Given the description of an element on the screen output the (x, y) to click on. 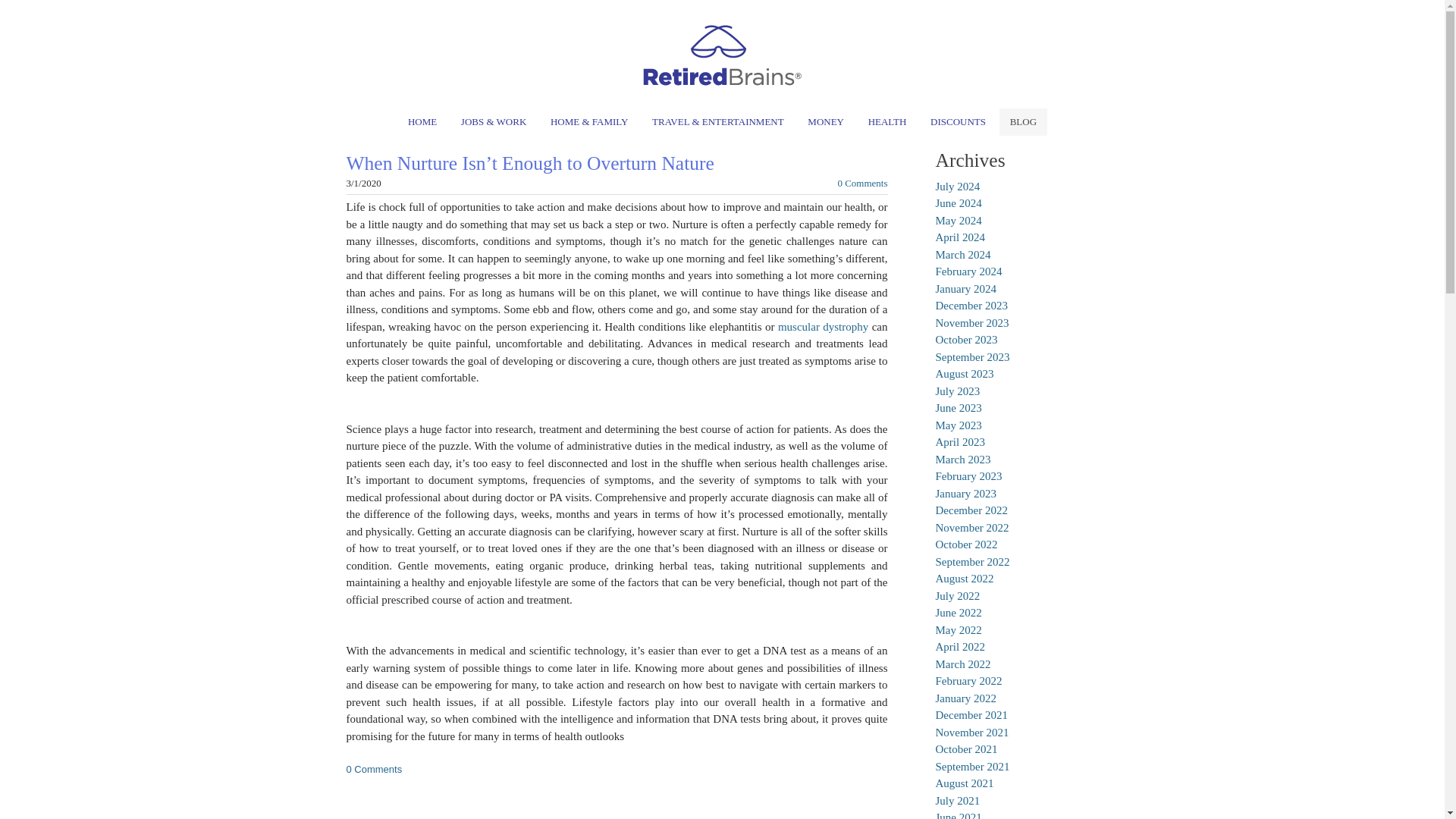
HEALTH (887, 121)
MONEY (825, 121)
HOME (421, 121)
